Given the description of an element on the screen output the (x, y) to click on. 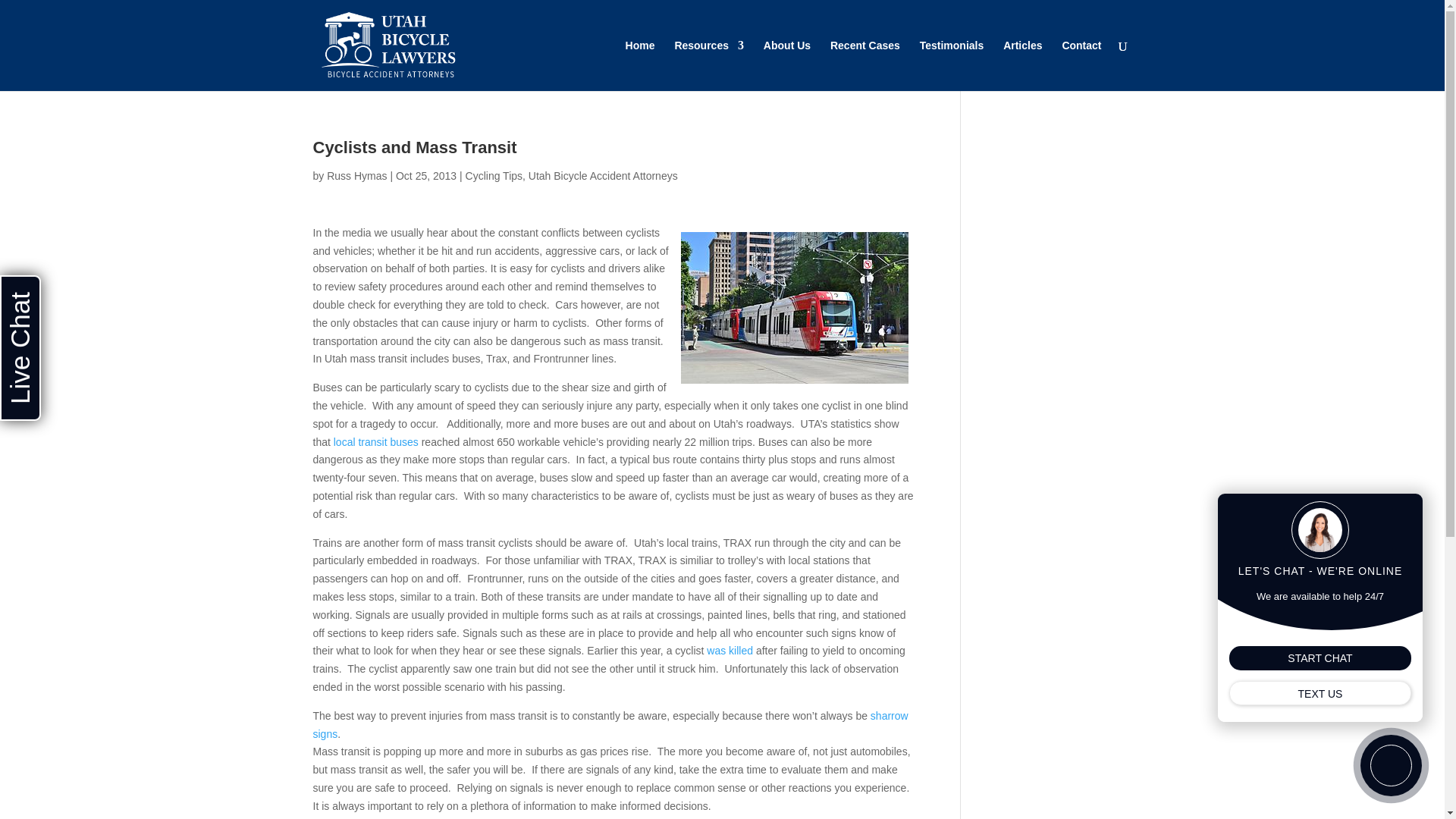
local transit buses (377, 441)
About Us (786, 65)
Resources (709, 65)
Testimonials (952, 65)
Cycling Tips (493, 175)
Utah Bicycle Accident Attorneys (603, 175)
Local transit (377, 441)
Recent Cases (864, 65)
Sharrow the Road (610, 725)
Russ Hymas (356, 175)
sharrow signs (610, 725)
UTA Trax (794, 307)
Posts by Russ Hymas (356, 175)
Utah Cyclist (729, 650)
was killed (729, 650)
